Given the description of an element on the screen output the (x, y) to click on. 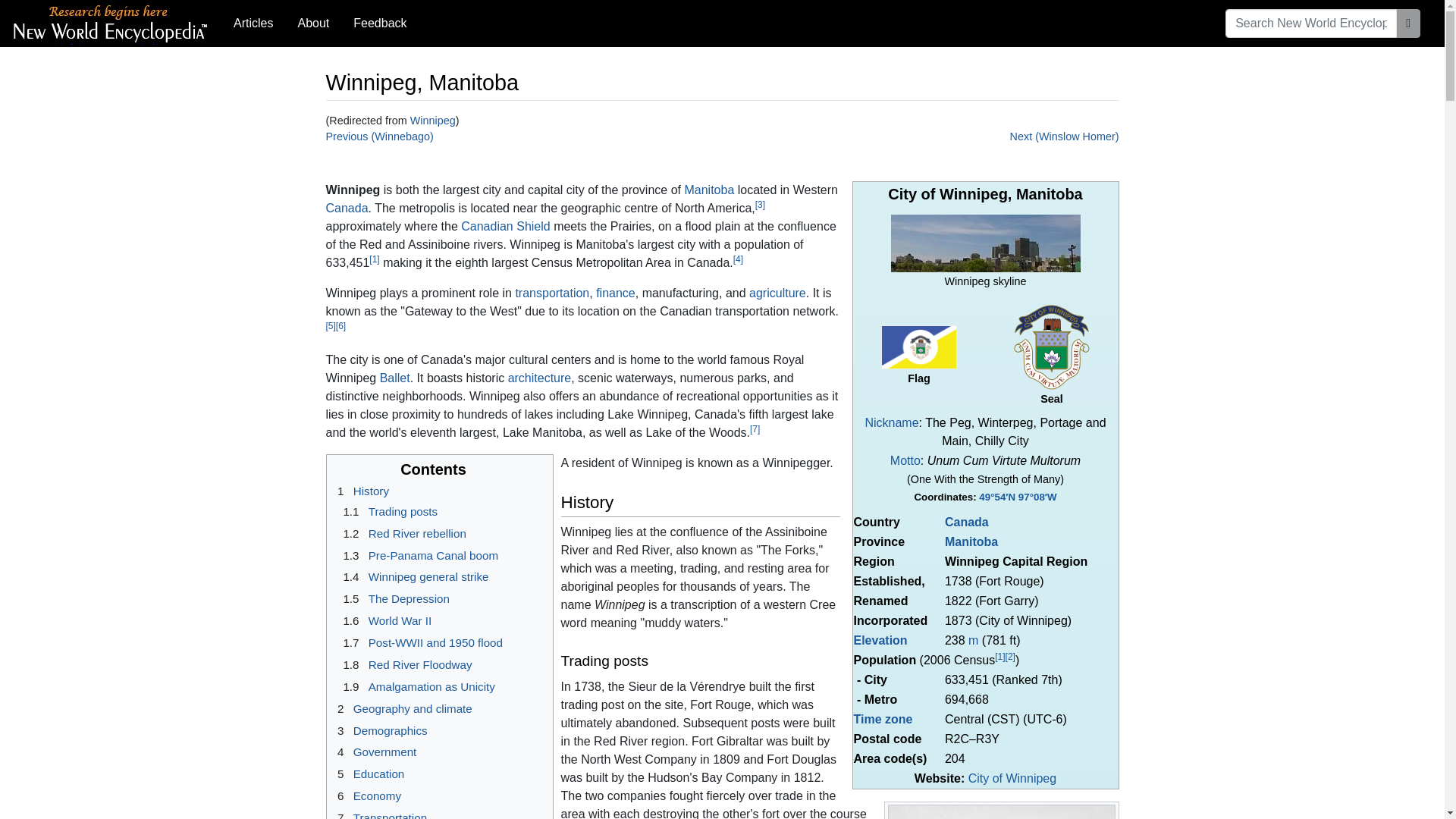
Canada (966, 521)
Nickname (891, 422)
Articles (253, 23)
Time zone (882, 718)
agriculture (777, 292)
Canada (347, 207)
architecture (540, 377)
Canadian Shield (505, 226)
Time zone (882, 718)
Winnipeg (432, 120)
